Given the description of an element on the screen output the (x, y) to click on. 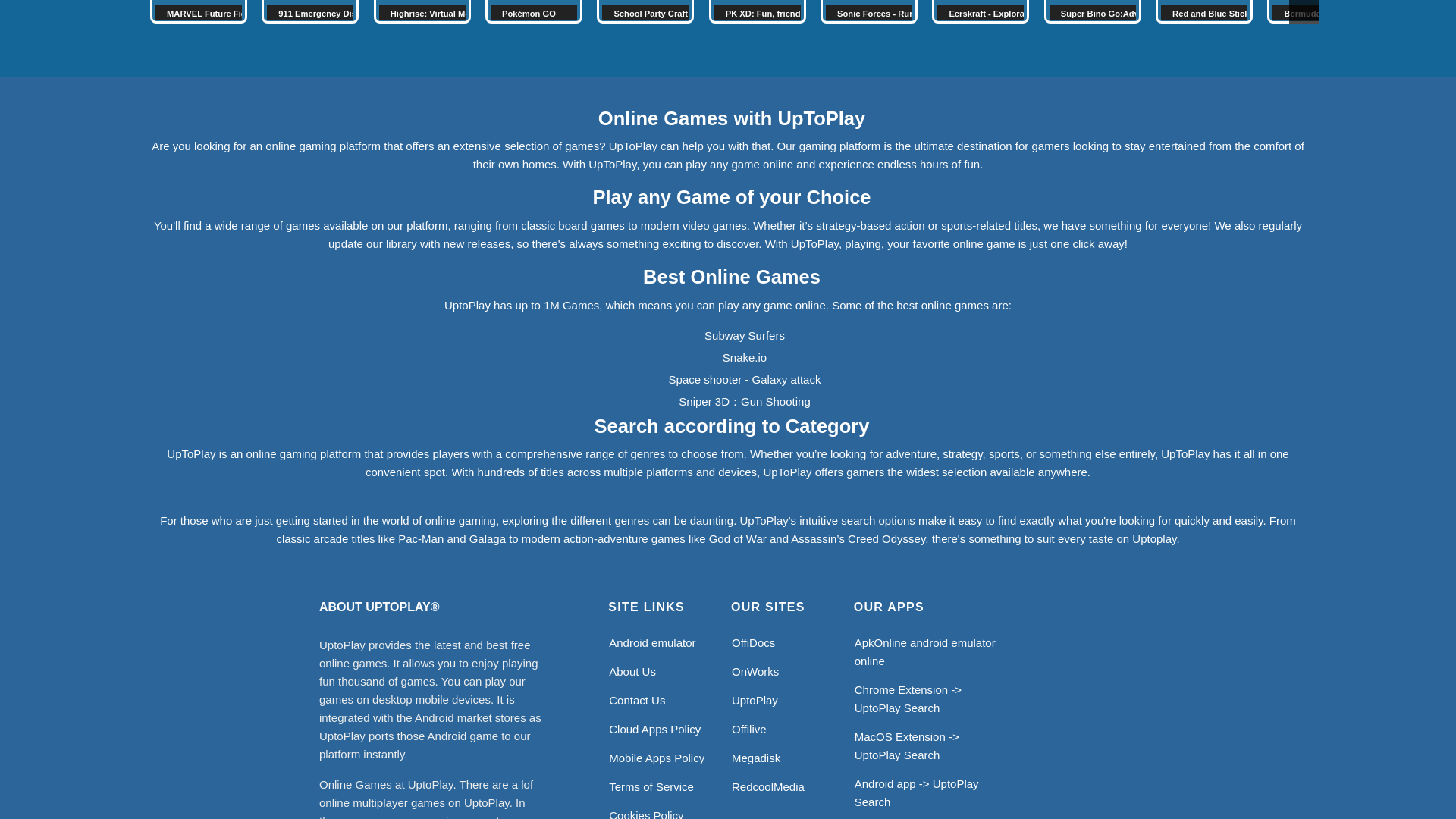
Play Subway Surfers game online (744, 335)
Play Space shooter - Galaxy attack game online (744, 379)
